Given the description of an element on the screen output the (x, y) to click on. 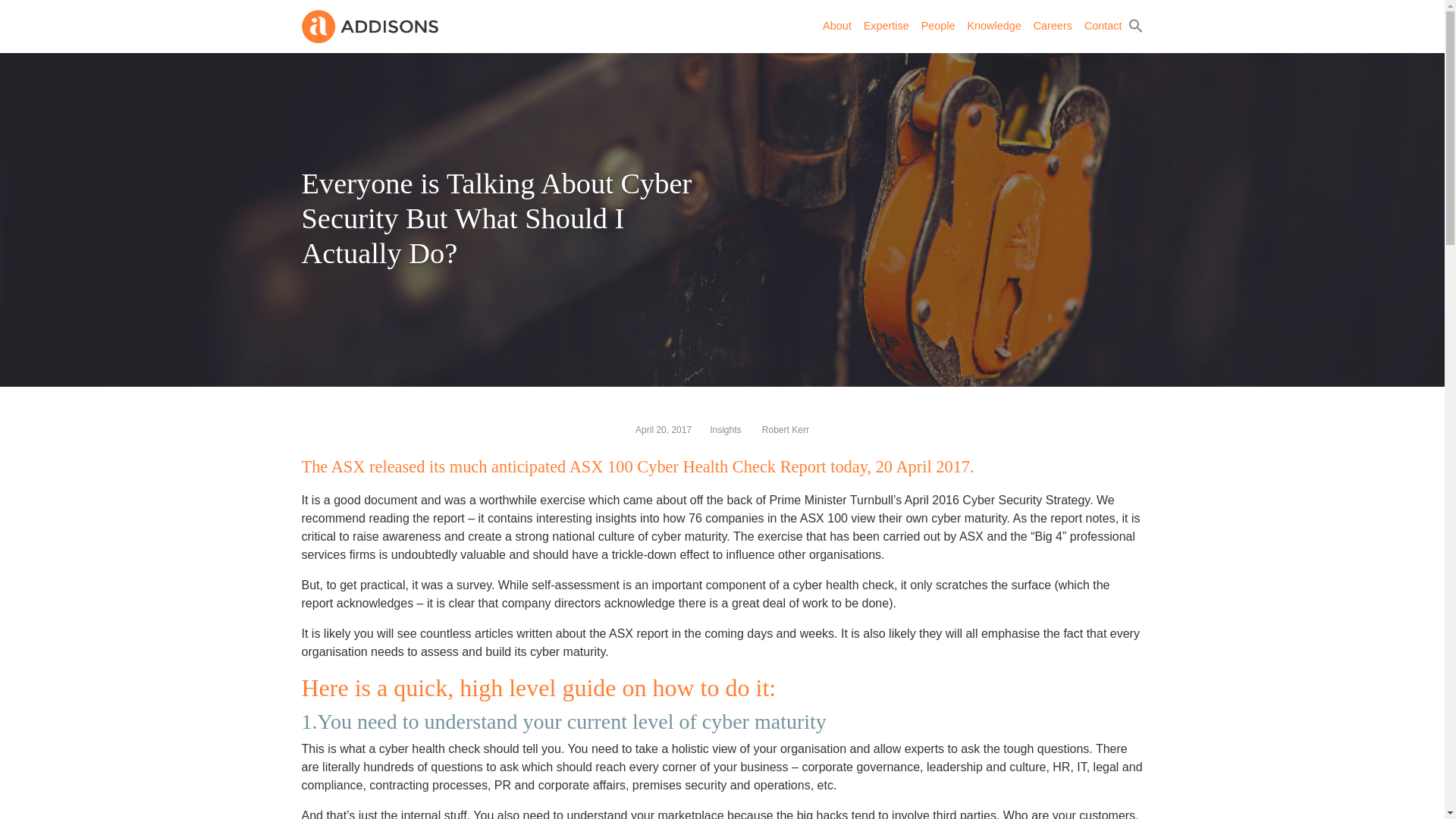
About (836, 26)
People (937, 26)
Insights (725, 429)
Expertise (886, 26)
Careers (1052, 26)
Robert Kerr (785, 429)
April 20, 2017 (662, 429)
Knowledge (993, 26)
Contact (1103, 26)
